Given the description of an element on the screen output the (x, y) to click on. 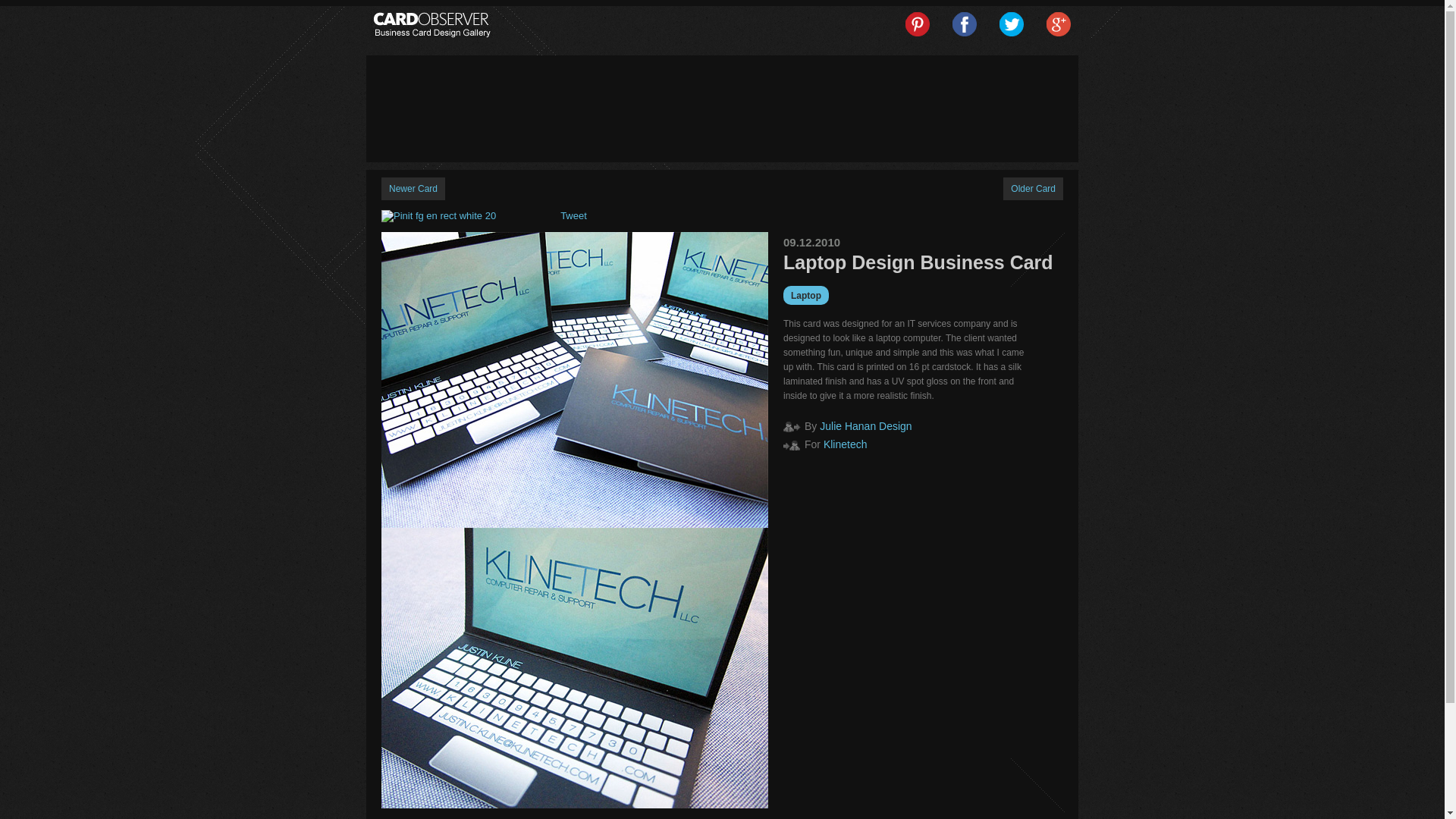
Klinetech (845, 444)
Older Card (1032, 188)
Julie Hanan Design (865, 426)
Newer Card (413, 188)
Tweet (573, 215)
Laptop (805, 294)
